Given the description of an element on the screen output the (x, y) to click on. 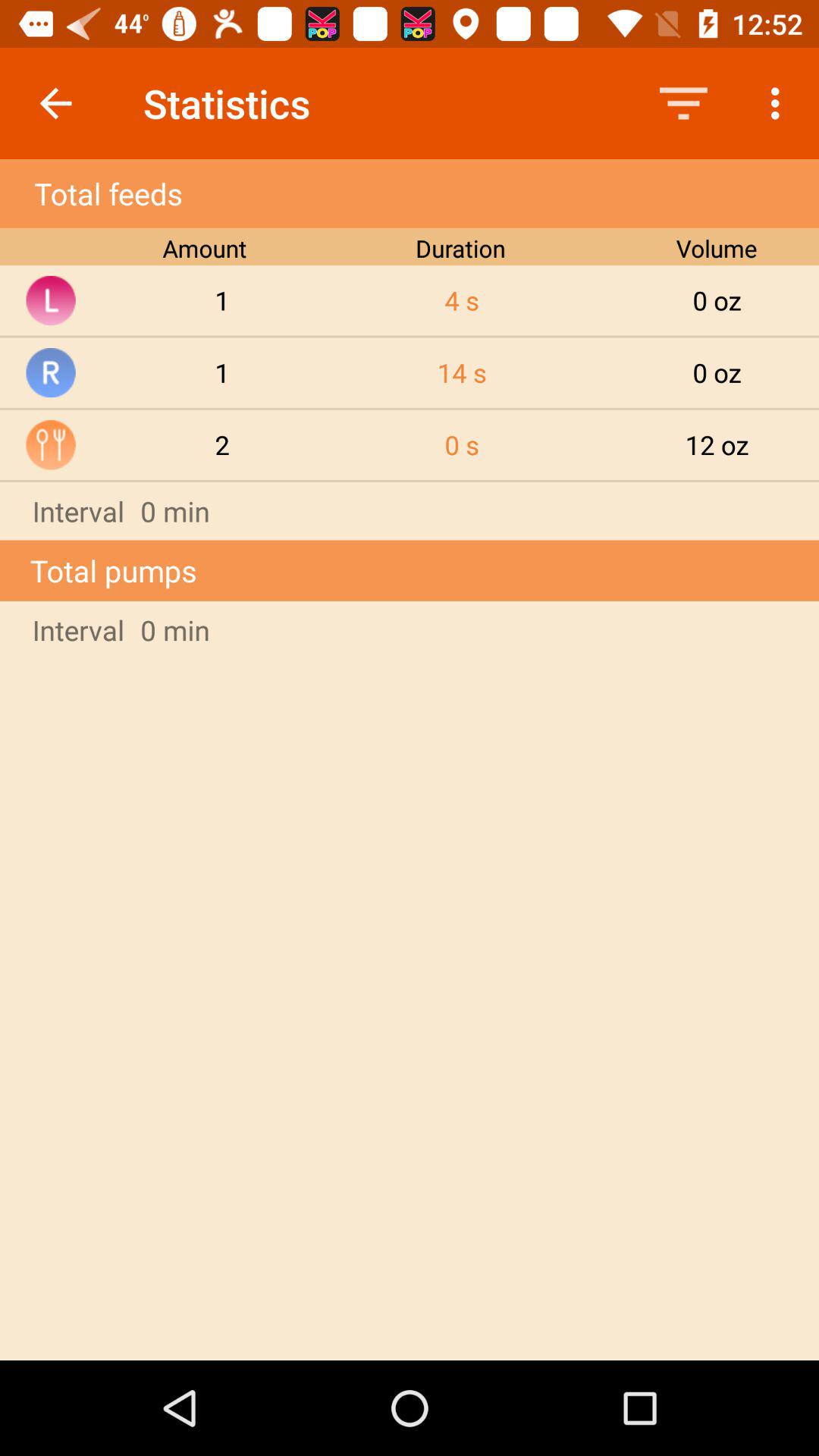
open 14 s icon (461, 372)
